Given the description of an element on the screen output the (x, y) to click on. 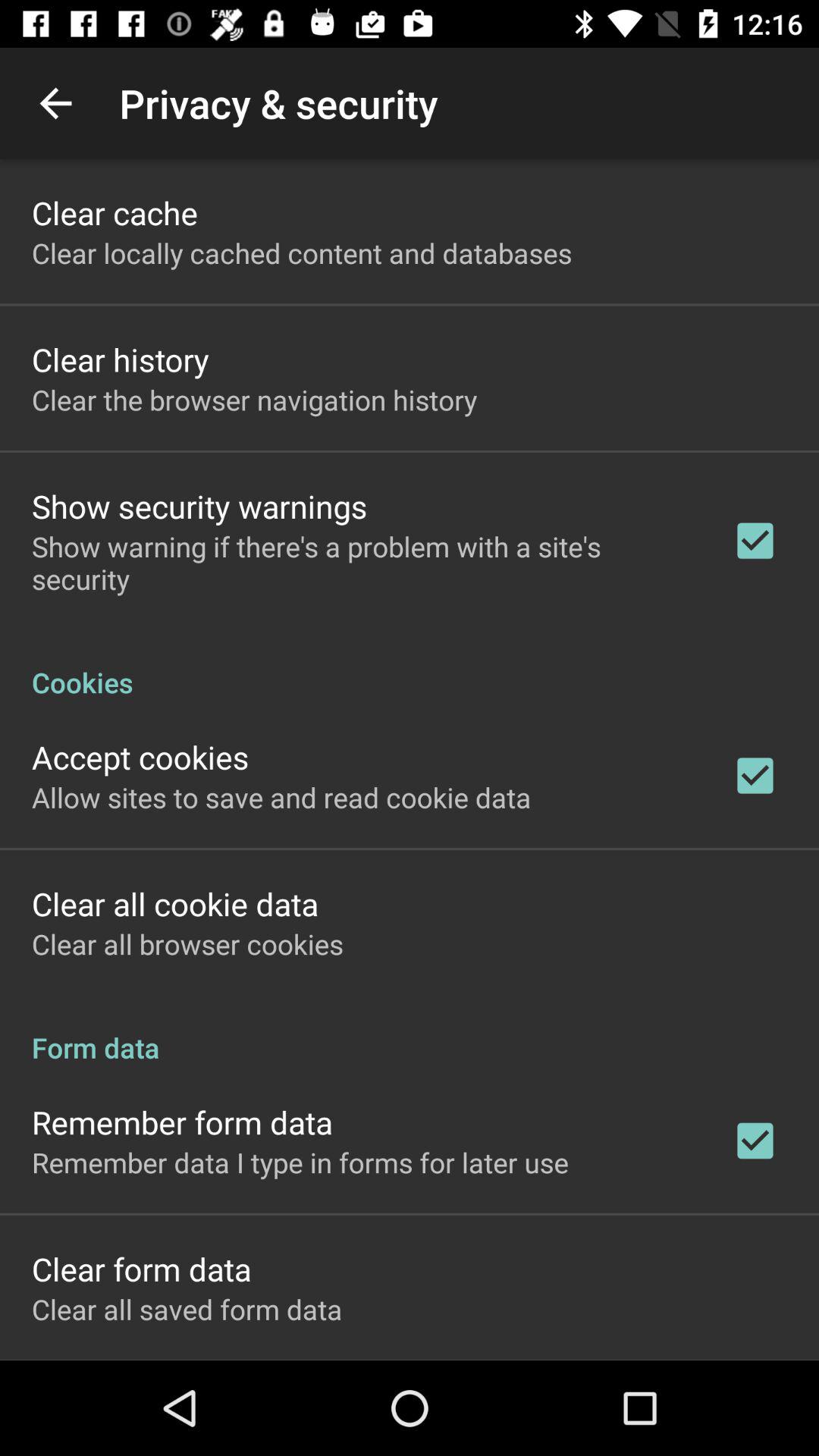
choose app above cookies item (361, 562)
